Given the description of an element on the screen output the (x, y) to click on. 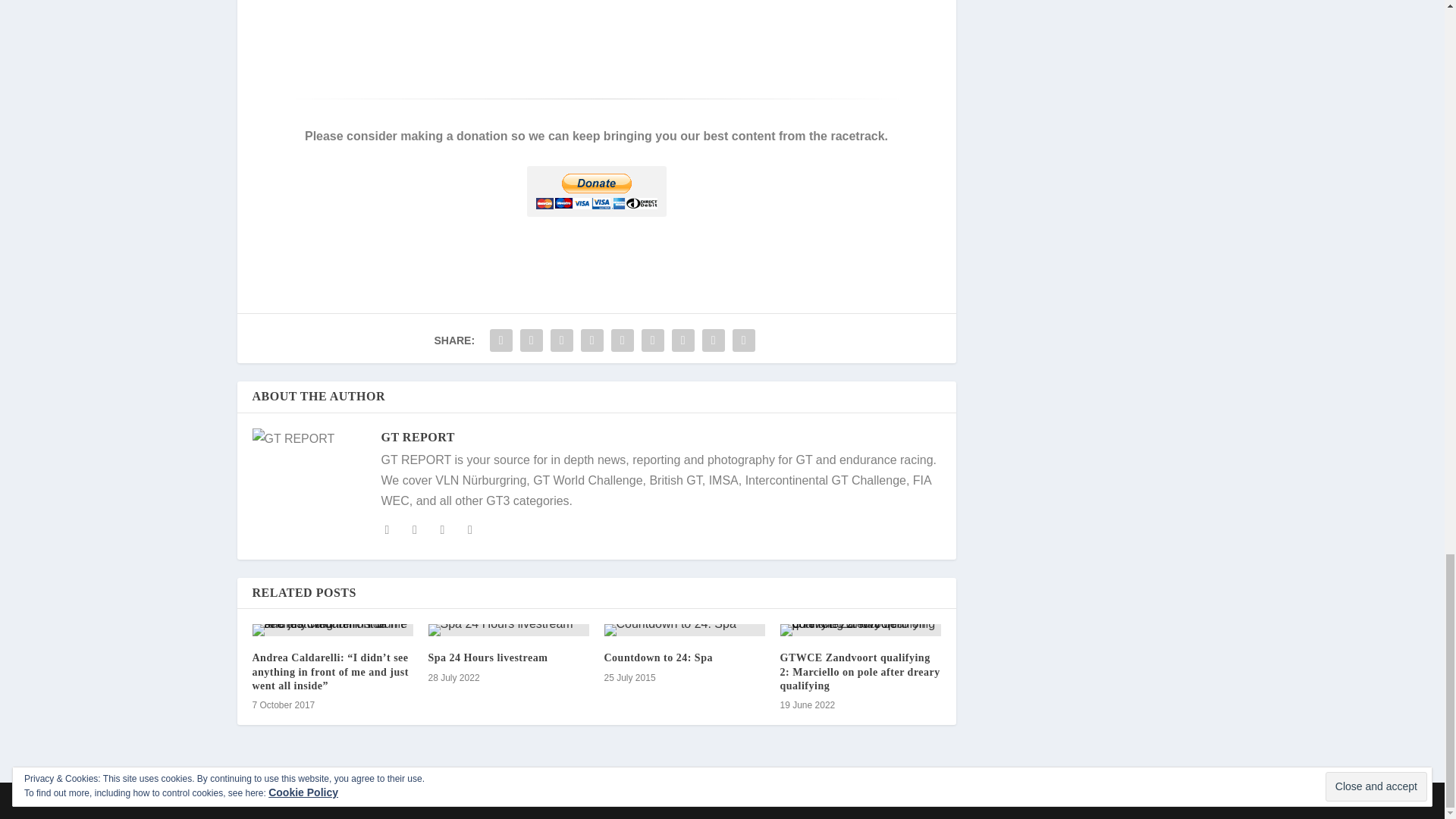
Share "Blancpain GT Zolder live stream" via Email (713, 340)
Share "Blancpain GT Zolder live stream" via Buffer (652, 340)
Share "Blancpain GT Zolder live stream" via Stumbleupon (683, 340)
Share "Blancpain GT Zolder live stream" via Tumblr (561, 340)
Share "Blancpain GT Zolder live stream" via Print (743, 340)
View all posts by GT REPORT (417, 436)
Countdown to 24: Spa (684, 630)
Share "Blancpain GT Zolder live stream" via Twitter (531, 340)
Share "Blancpain GT Zolder live stream" via Pinterest (591, 340)
Spa 24 Hours livestream (508, 630)
Share "Blancpain GT Zolder live stream" via Facebook (501, 340)
Share "Blancpain GT Zolder live stream" via LinkedIn (622, 340)
